Given the description of an element on the screen output the (x, y) to click on. 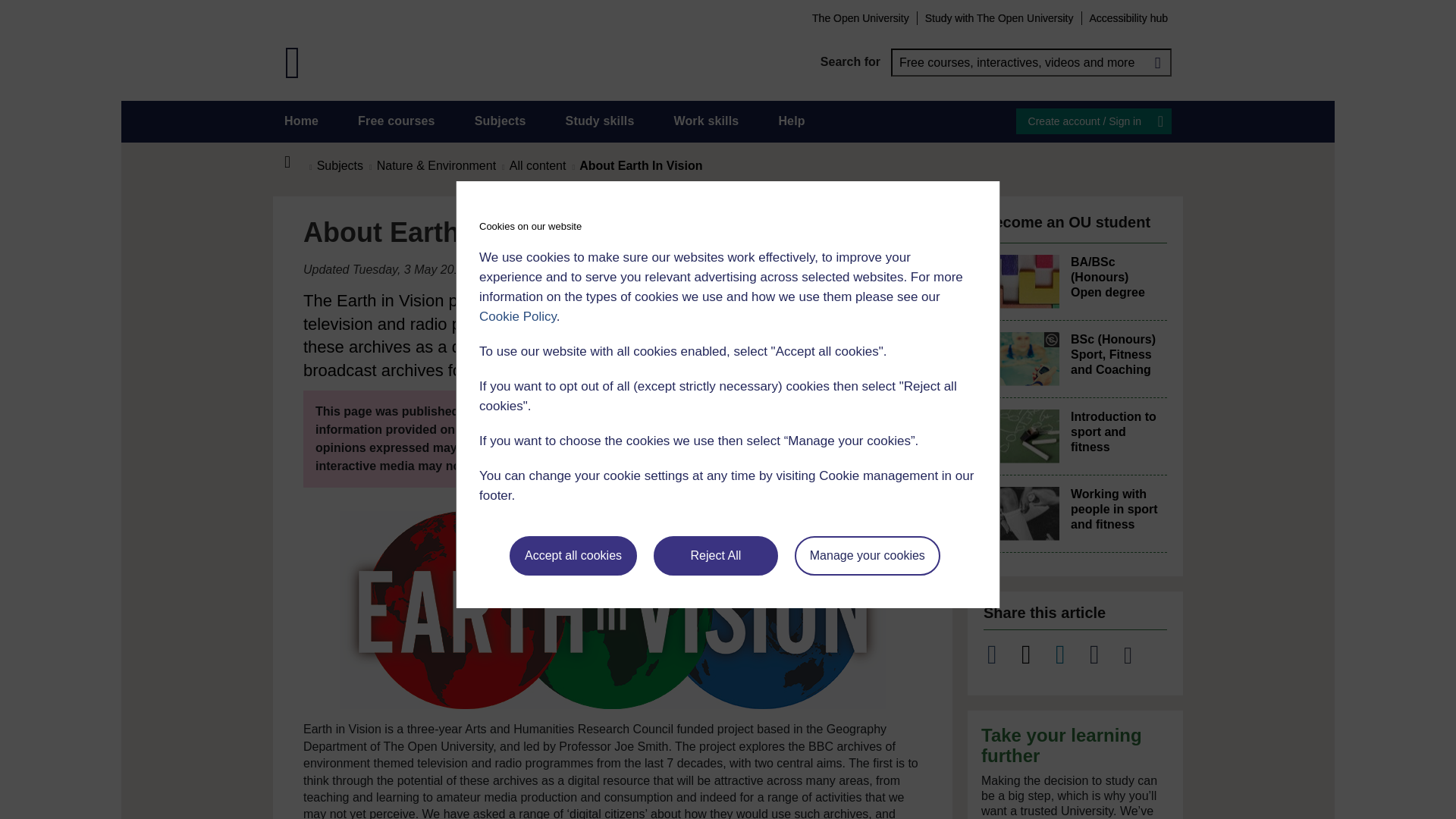
Subjects (499, 120)
Search (1157, 62)
Home (300, 120)
Help (791, 120)
The Open University (860, 17)
Accessibility hub (1129, 17)
Manage your cookies (867, 555)
Study skills (600, 120)
Home (295, 162)
Free courses (396, 120)
Work skills (705, 120)
Study with The Open University (999, 17)
Reject All (715, 555)
Cookie Policy (517, 316)
Accept all cookies (573, 555)
